Given the description of an element on the screen output the (x, y) to click on. 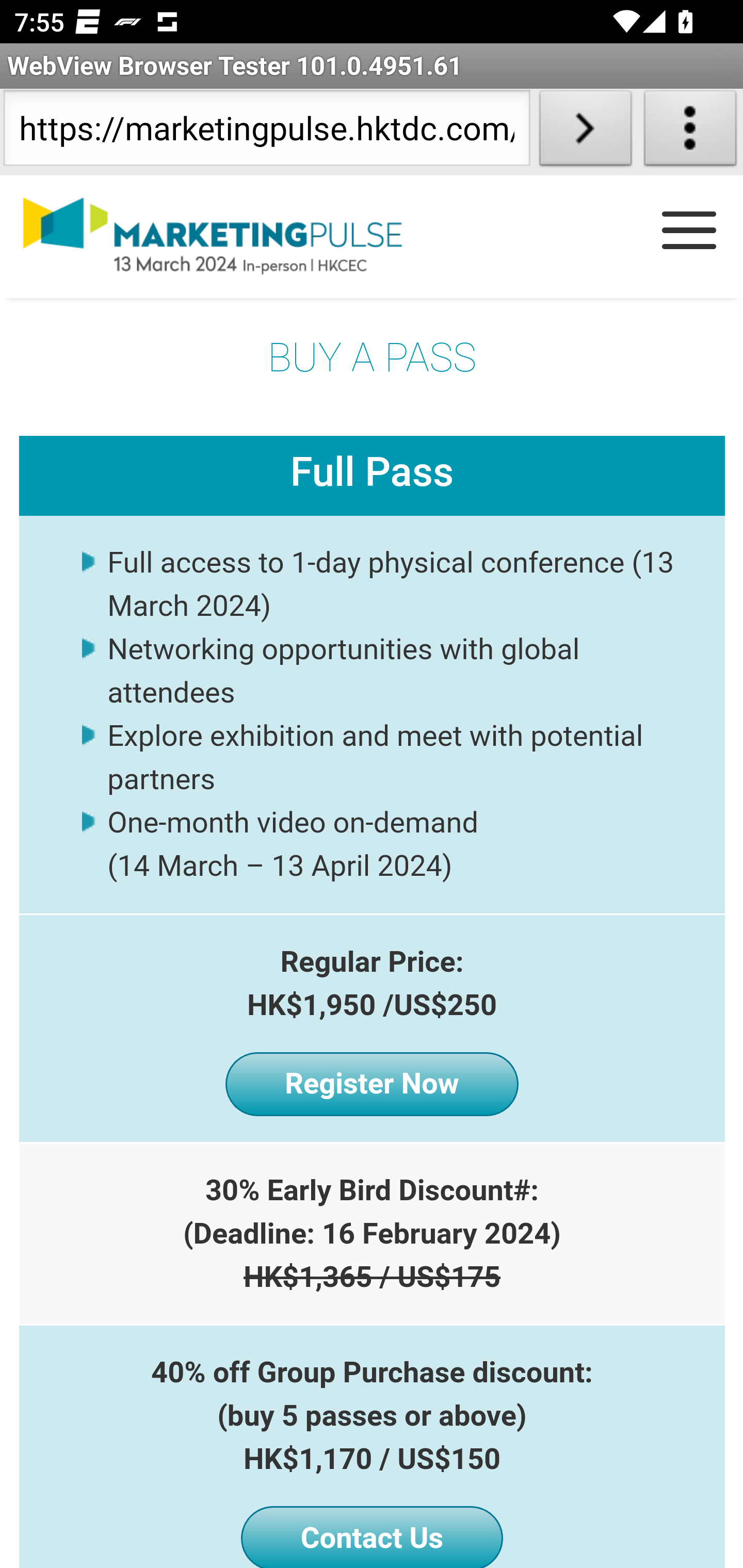
Load URL (585, 132)
About WebView (690, 132)
HKTDC Event (230, 237)
Register Now (371, 1083)
Contact Us (371, 1536)
